Given the description of an element on the screen output the (x, y) to click on. 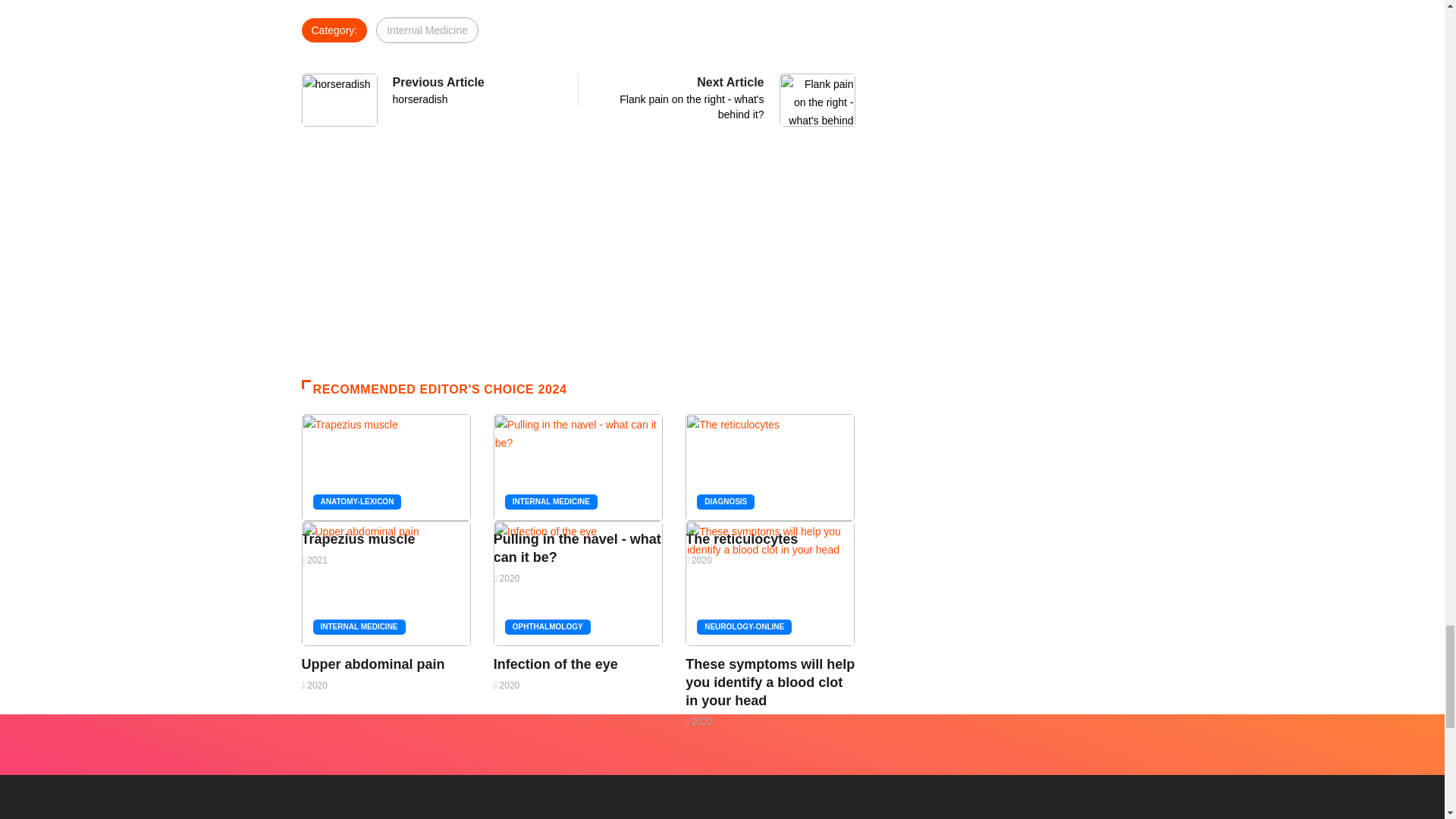
Upper abdominal pain (373, 663)
ANATOMY-LEXICON (357, 501)
NEUROLOGY-ONLINE (680, 97)
The reticulocytes (744, 626)
DIAGNOSIS (741, 539)
Trapezius muscle (725, 501)
Pulling in the navel - what can it be? (357, 539)
Internal Medicine (473, 90)
OPHTHALMOLOGY (577, 548)
Infection of the eye (427, 30)
INTERNAL MEDICINE (548, 626)
INTERNAL MEDICINE (555, 663)
